Given the description of an element on the screen output the (x, y) to click on. 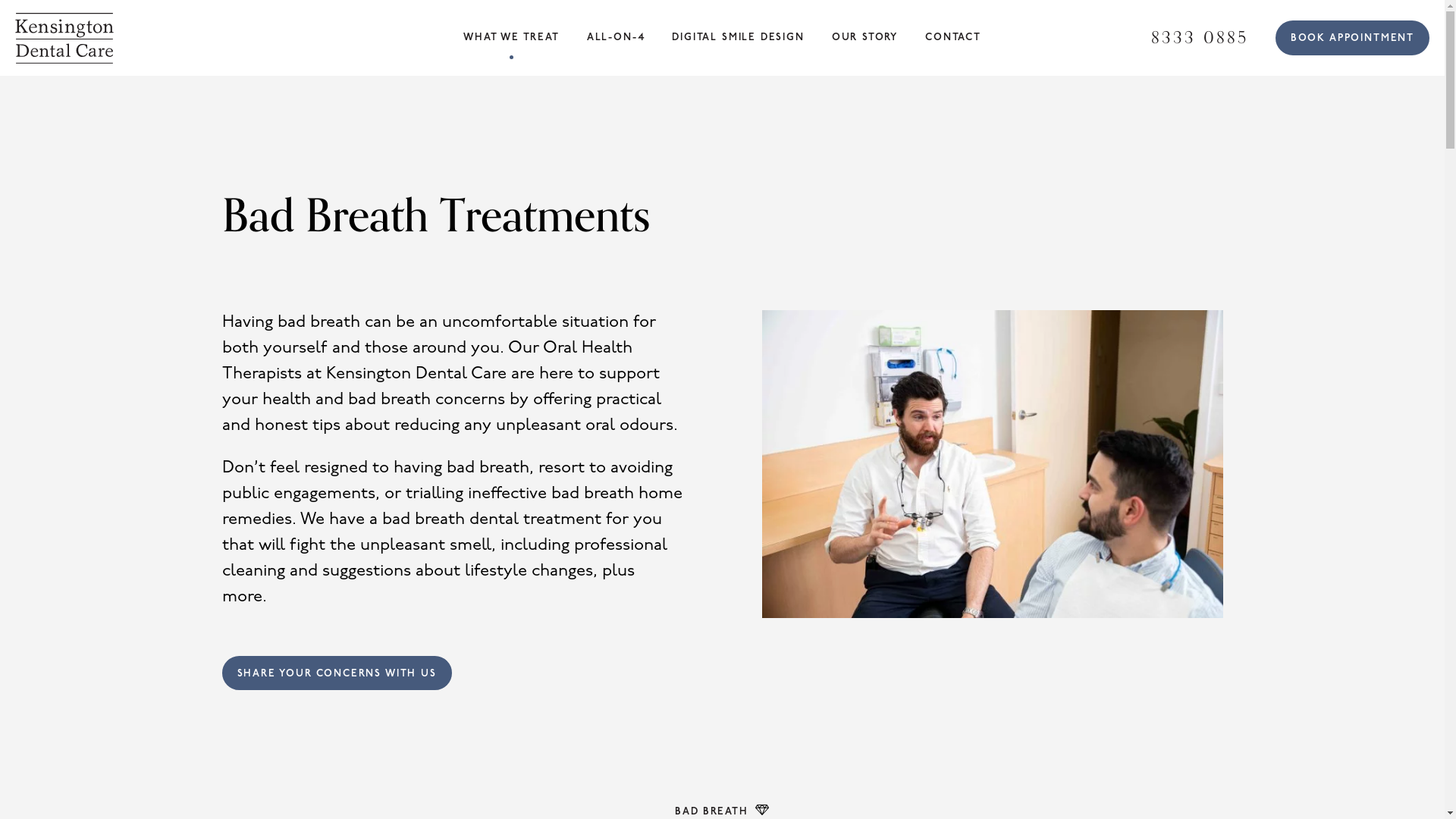
8333 0885 Element type: text (1199, 37)
DIGITAL SMILE DESIGN Element type: text (737, 37)
OUR STORY Element type: text (864, 37)
ALL-ON-4 Element type: text (615, 37)
WHAT WE TREAT Element type: text (511, 37)
CONTACT Element type: text (952, 37)
SHARE YOUR CONCERNS WITH US Element type: text (336, 672)
BOOK APPOINTMENT Element type: text (1352, 37)
